Given the description of an element on the screen output the (x, y) to click on. 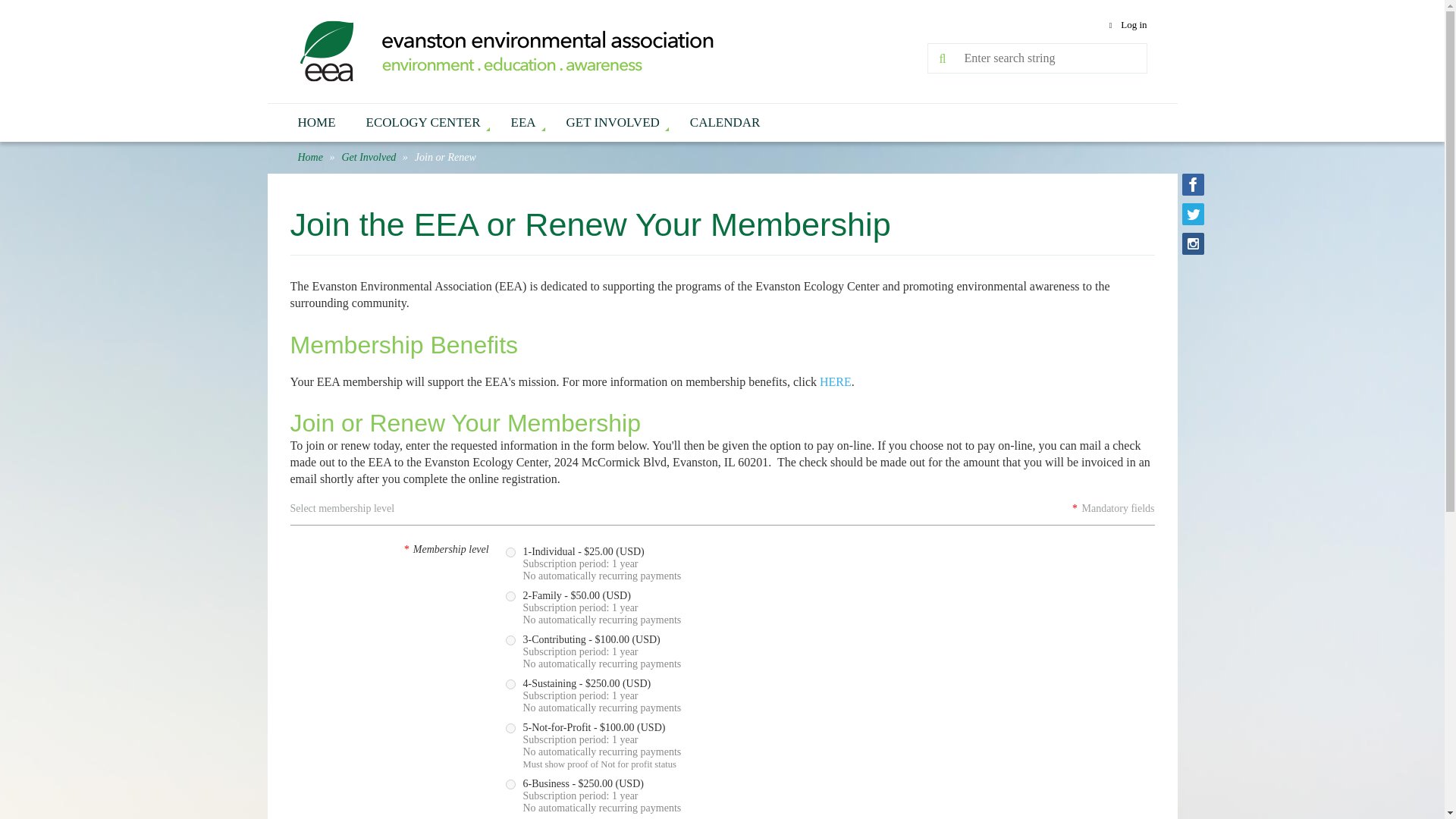
Log in (1125, 24)
